Given the description of an element on the screen output the (x, y) to click on. 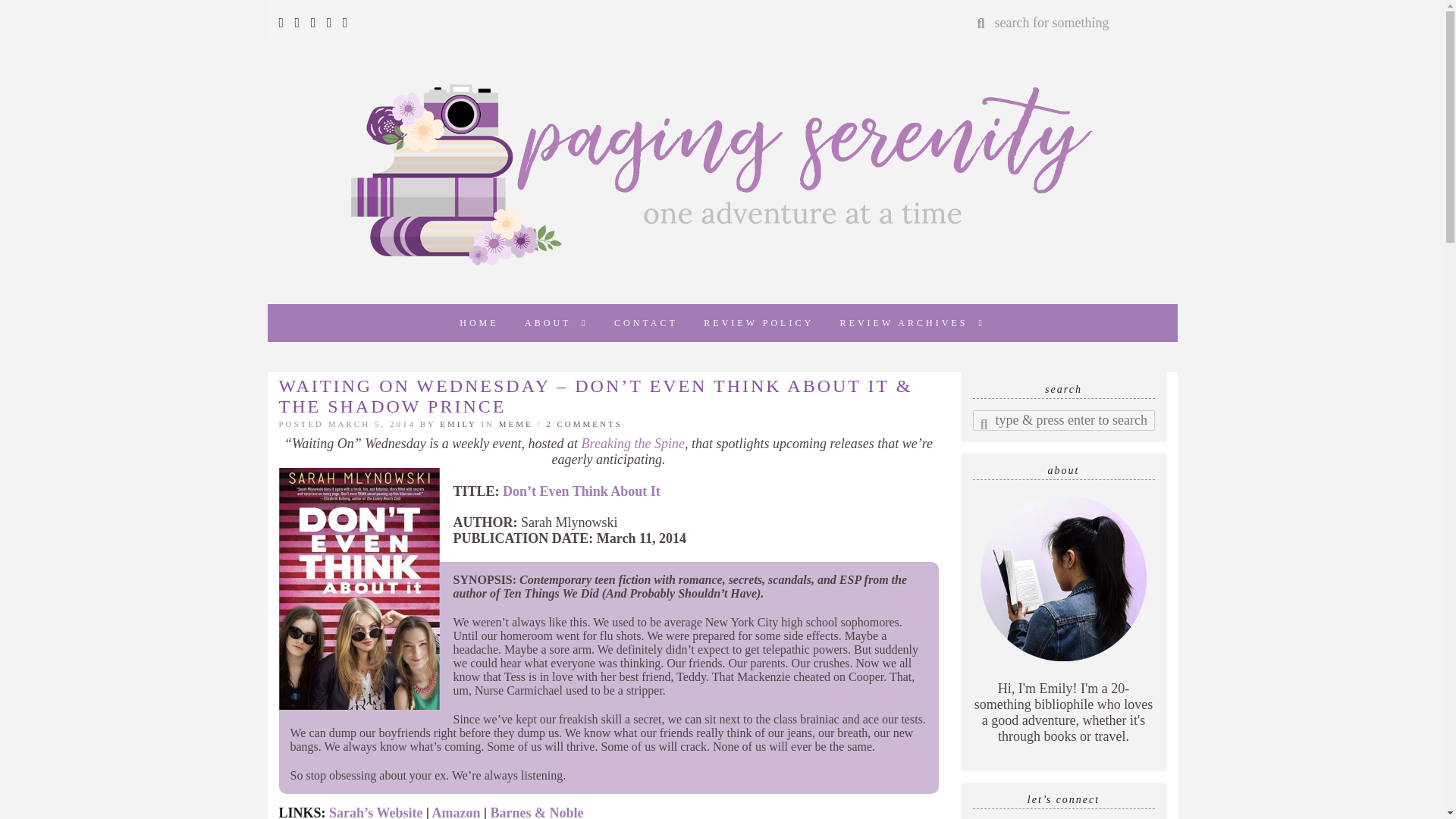
CONTACT (645, 322)
ABOUT   (556, 322)
Twitter (283, 23)
Cebook (297, 23)
Instagram (313, 23)
Breaking the Spine (632, 443)
REVIEW ARCHIVES   (911, 322)
REVIEW POLICY (759, 322)
View all posts in Meme (515, 423)
2 COMMENTS (584, 423)
Tumblr (329, 23)
Profile Picture (1063, 577)
Amazon (456, 812)
EMILY (457, 423)
MEME (515, 423)
